Given the description of an element on the screen output the (x, y) to click on. 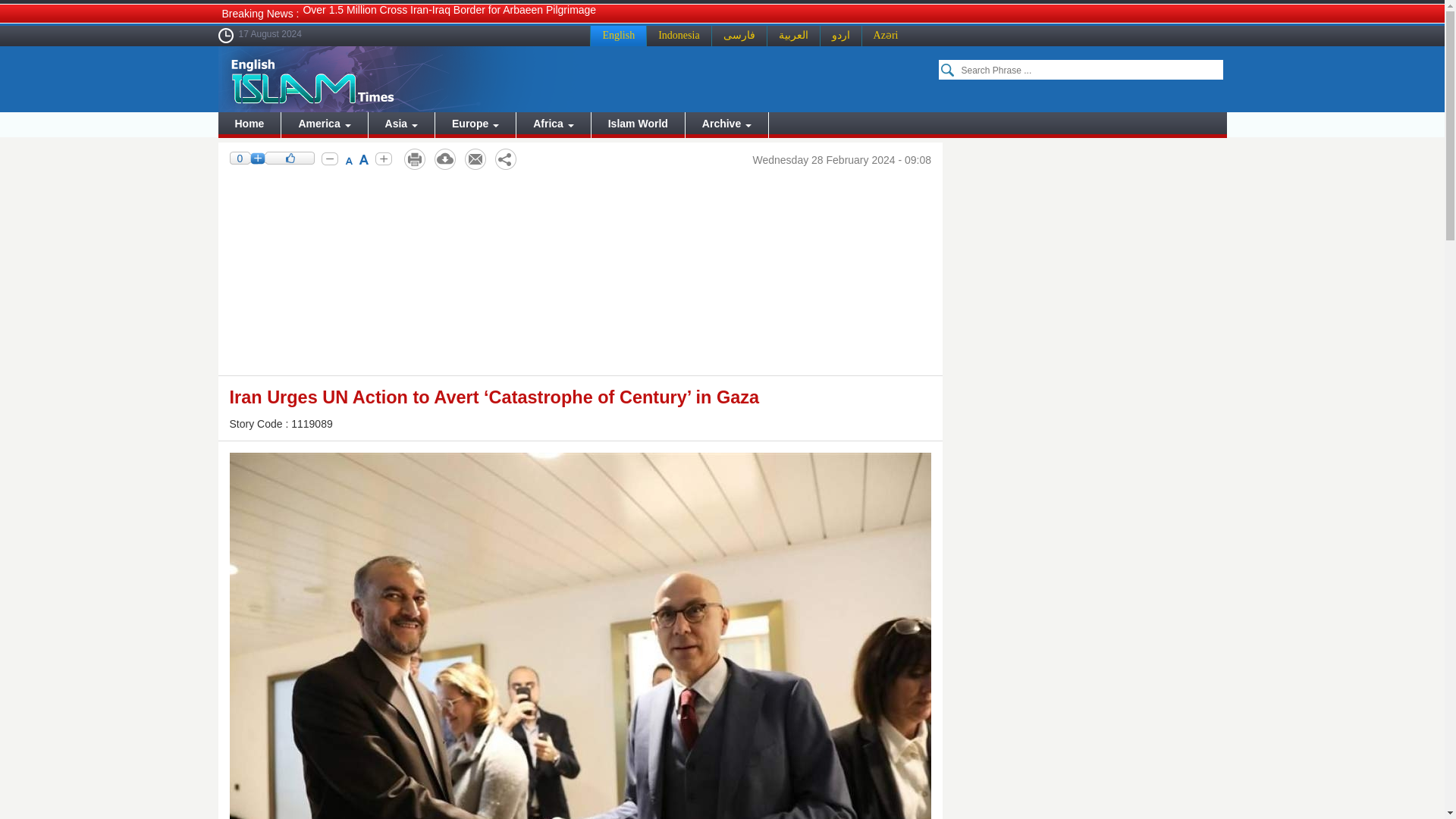
Send to a Friend (475, 159)
Downloading the File (444, 159)
English (617, 35)
Print Edition (414, 159)
Asia (400, 125)
America (323, 125)
Home (249, 125)
Indonesia (678, 35)
